Given the description of an element on the screen output the (x, y) to click on. 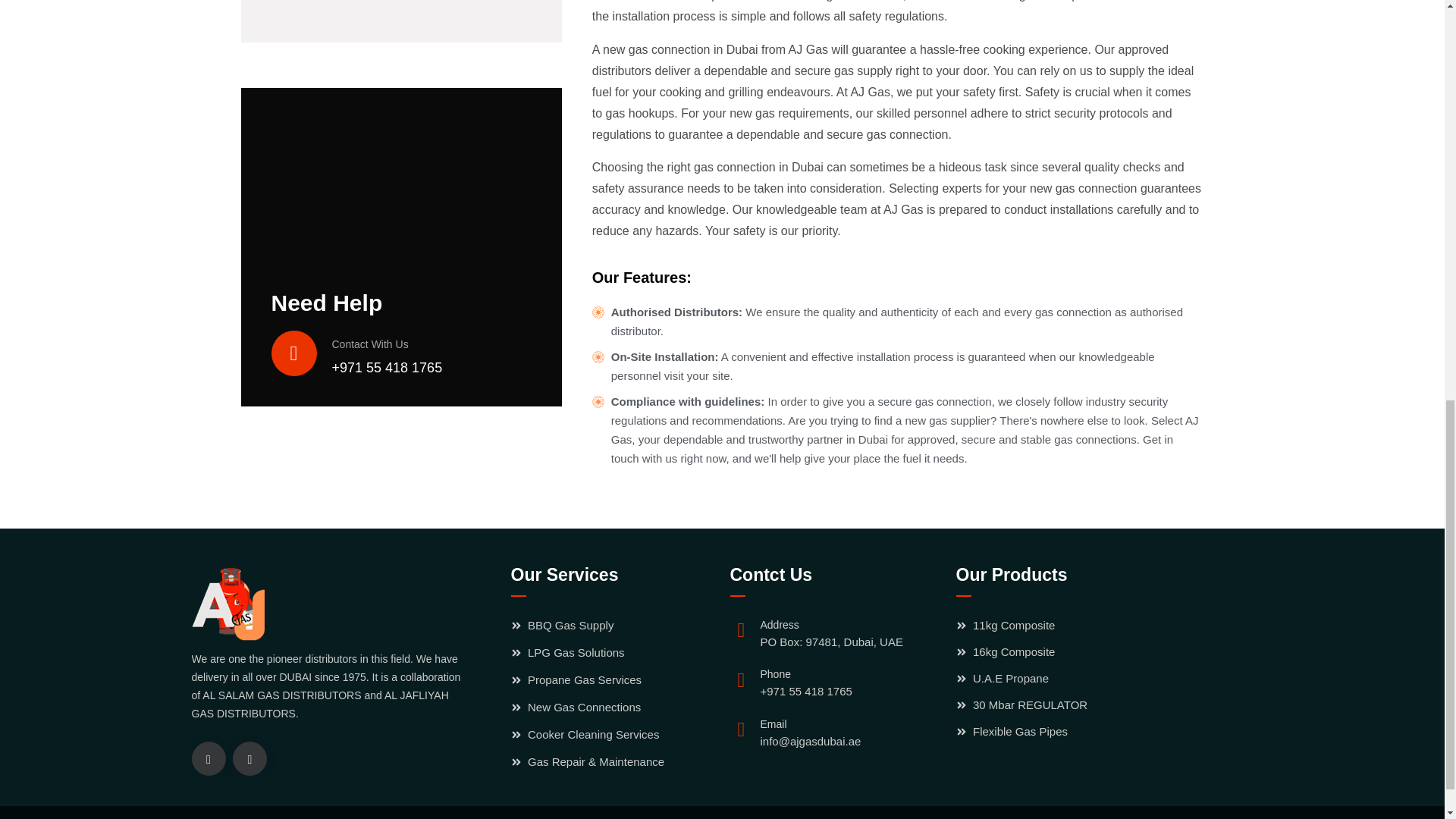
LPG Gas Solutions (616, 652)
BBQ Cleaning Service (400, 6)
BBQ Gas Supply (616, 625)
